Given the description of an element on the screen output the (x, y) to click on. 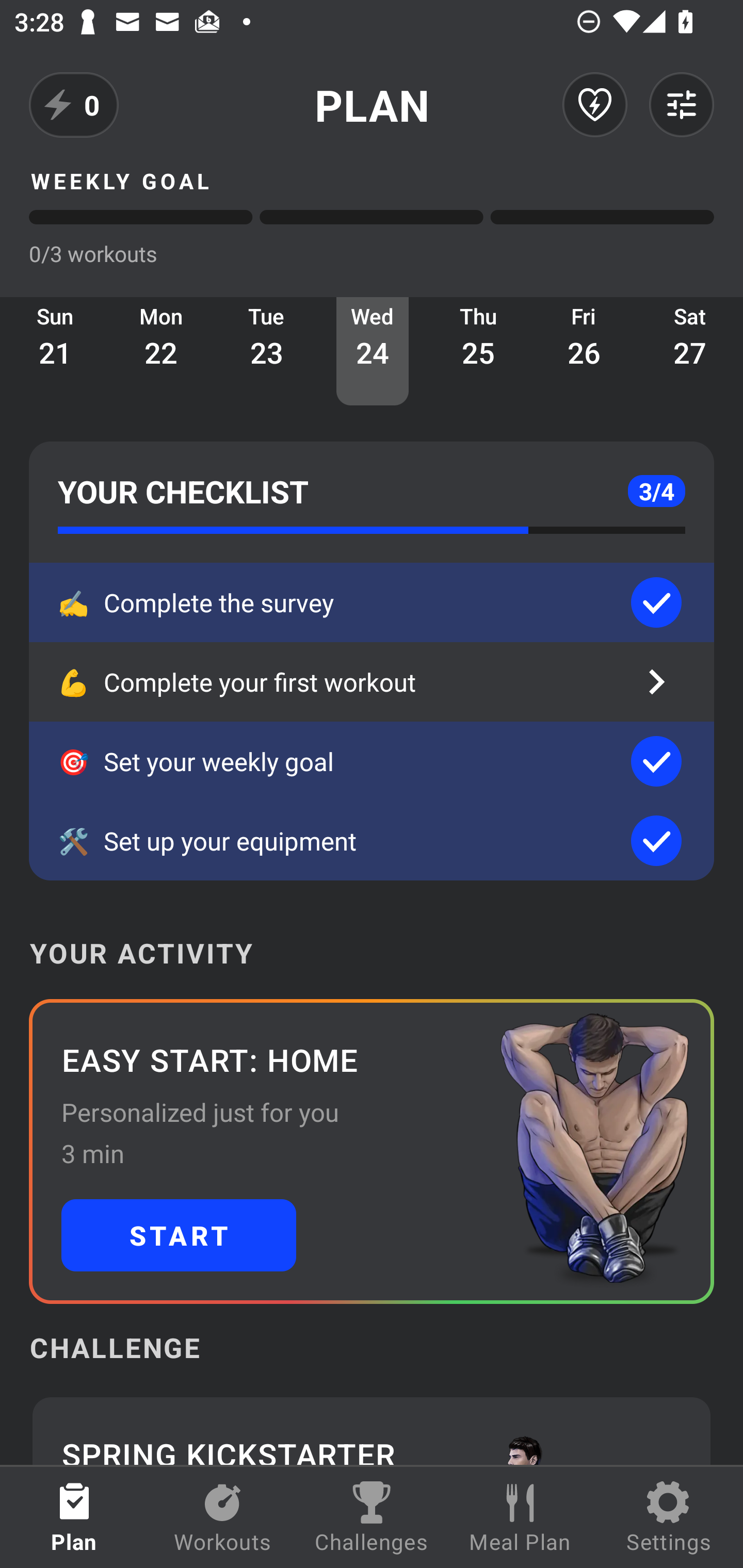
0 (73, 104)
Sun 21 (55, 351)
Mon 22 (160, 351)
Tue 23 (266, 351)
Wed 24 (372, 351)
Thu 25 (478, 351)
Fri 26 (584, 351)
Sat 27 (690, 351)
💪 Complete your first workout (371, 681)
START (178, 1235)
 Workouts  (222, 1517)
 Challenges  (371, 1517)
 Meal Plan  (519, 1517)
 Settings  (668, 1517)
